Given the description of an element on the screen output the (x, y) to click on. 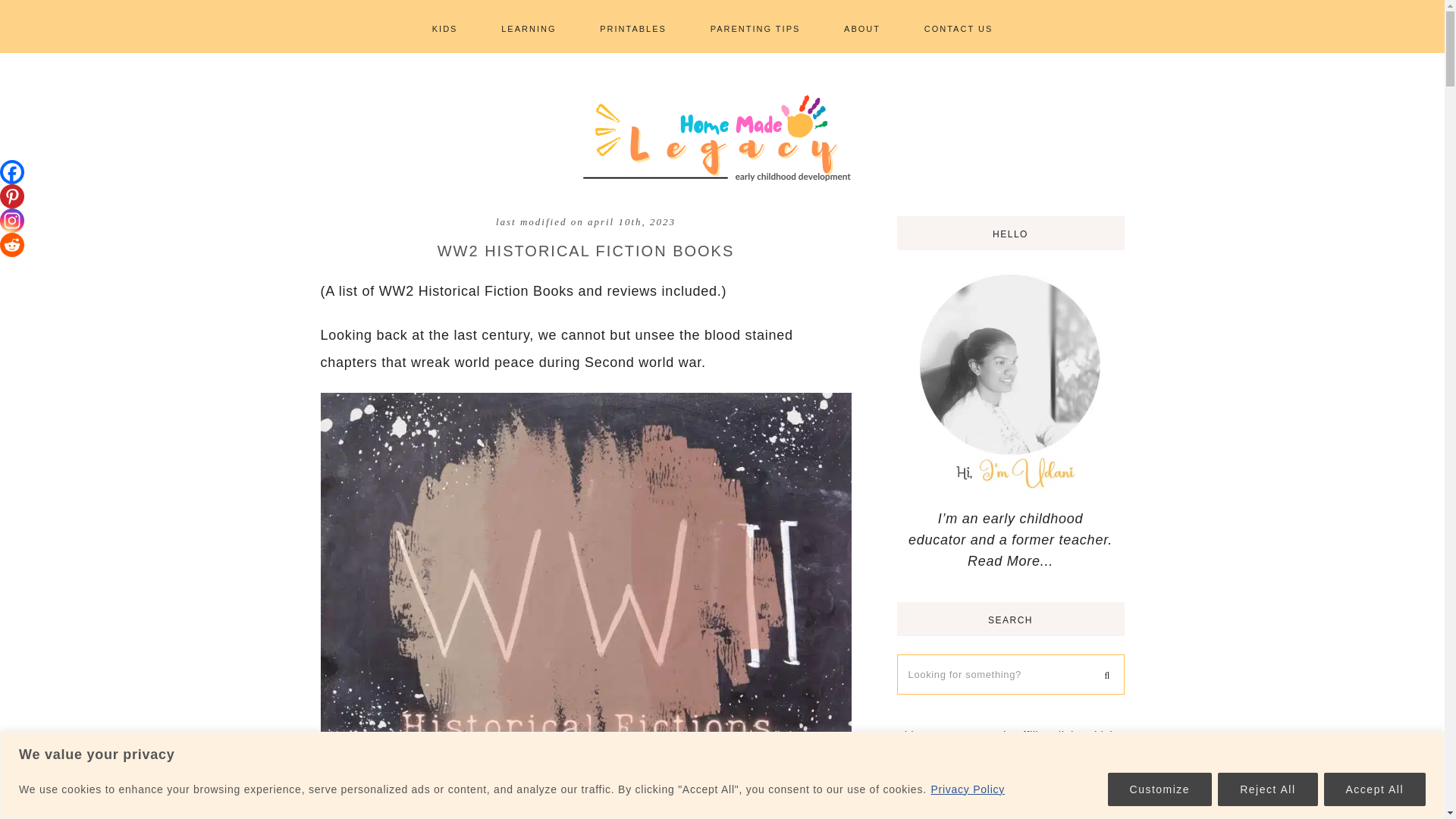
CONTACT US (958, 26)
Privacy Policy (968, 789)
Accept All (1374, 788)
Reject All (1267, 788)
Reddit (12, 244)
Instagram (12, 220)
Pinterest (12, 196)
Home Made Legacy (721, 136)
ABOUT (861, 26)
LEARNING (528, 26)
